Given the description of an element on the screen output the (x, y) to click on. 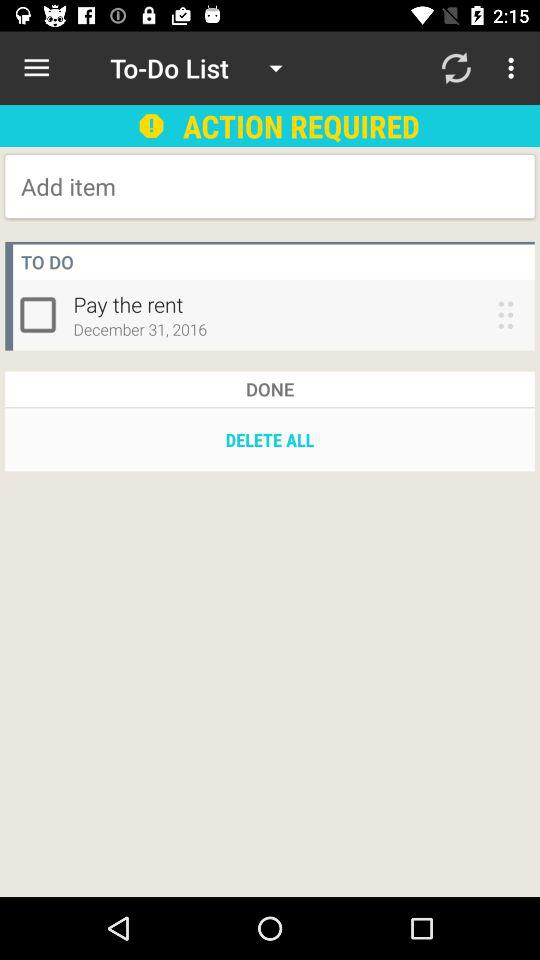
select the symbol (41, 314)
